Given the description of an element on the screen output the (x, y) to click on. 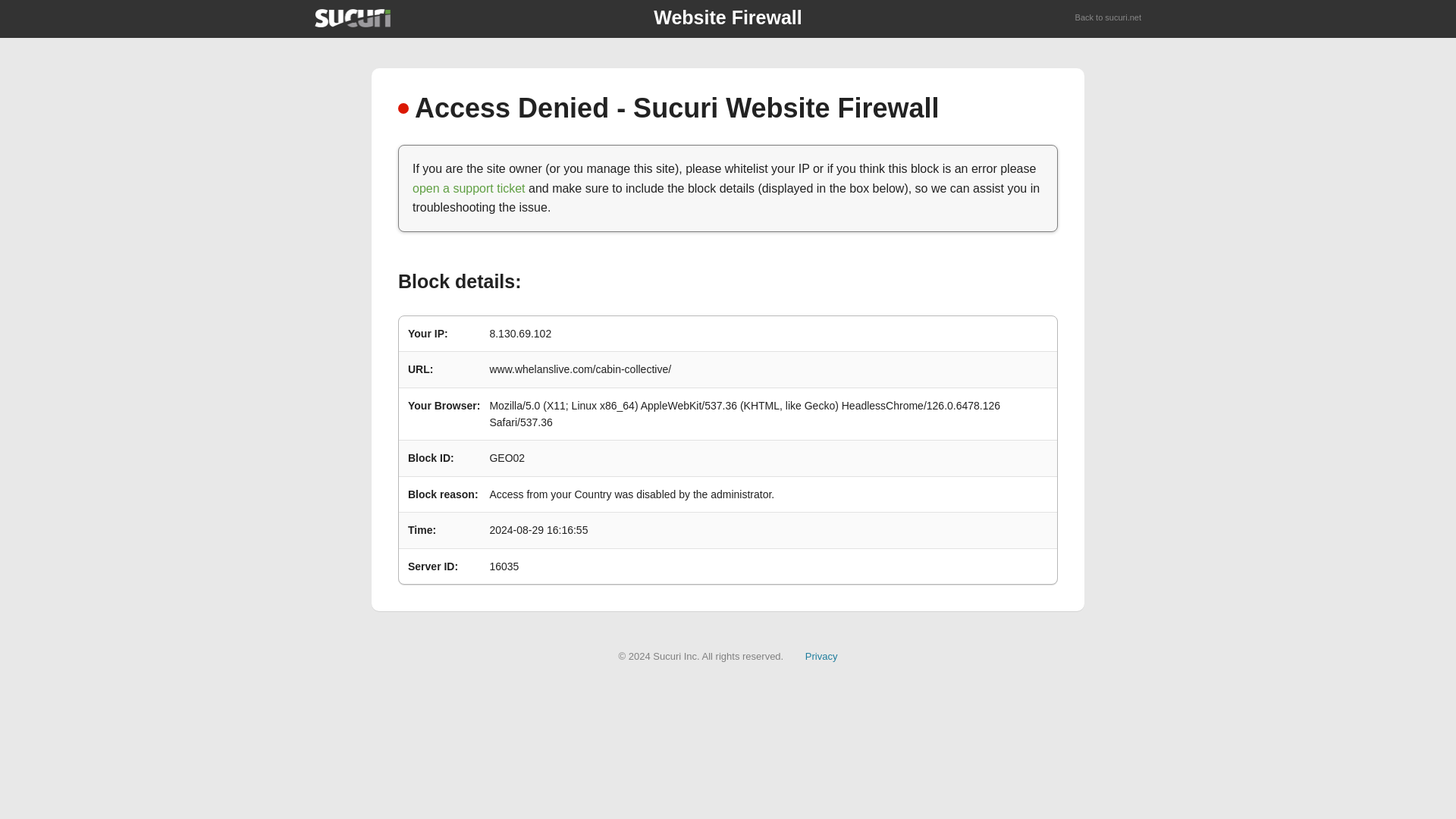
Back to sucuri.net (1108, 18)
Privacy (821, 655)
open a support ticket (468, 187)
